Given the description of an element on the screen output the (x, y) to click on. 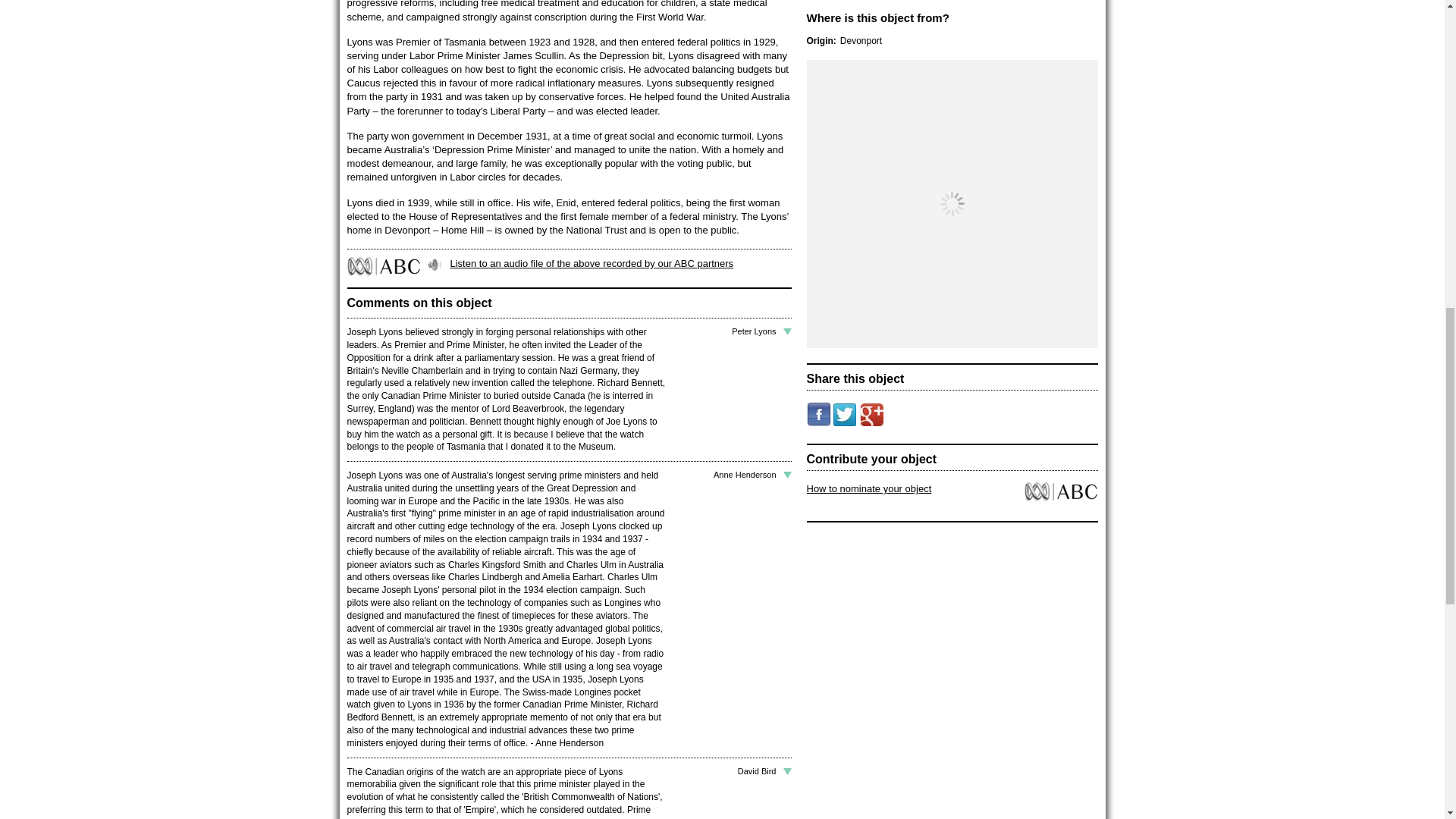
How to nominate your object (868, 488)
